Given the description of an element on the screen output the (x, y) to click on. 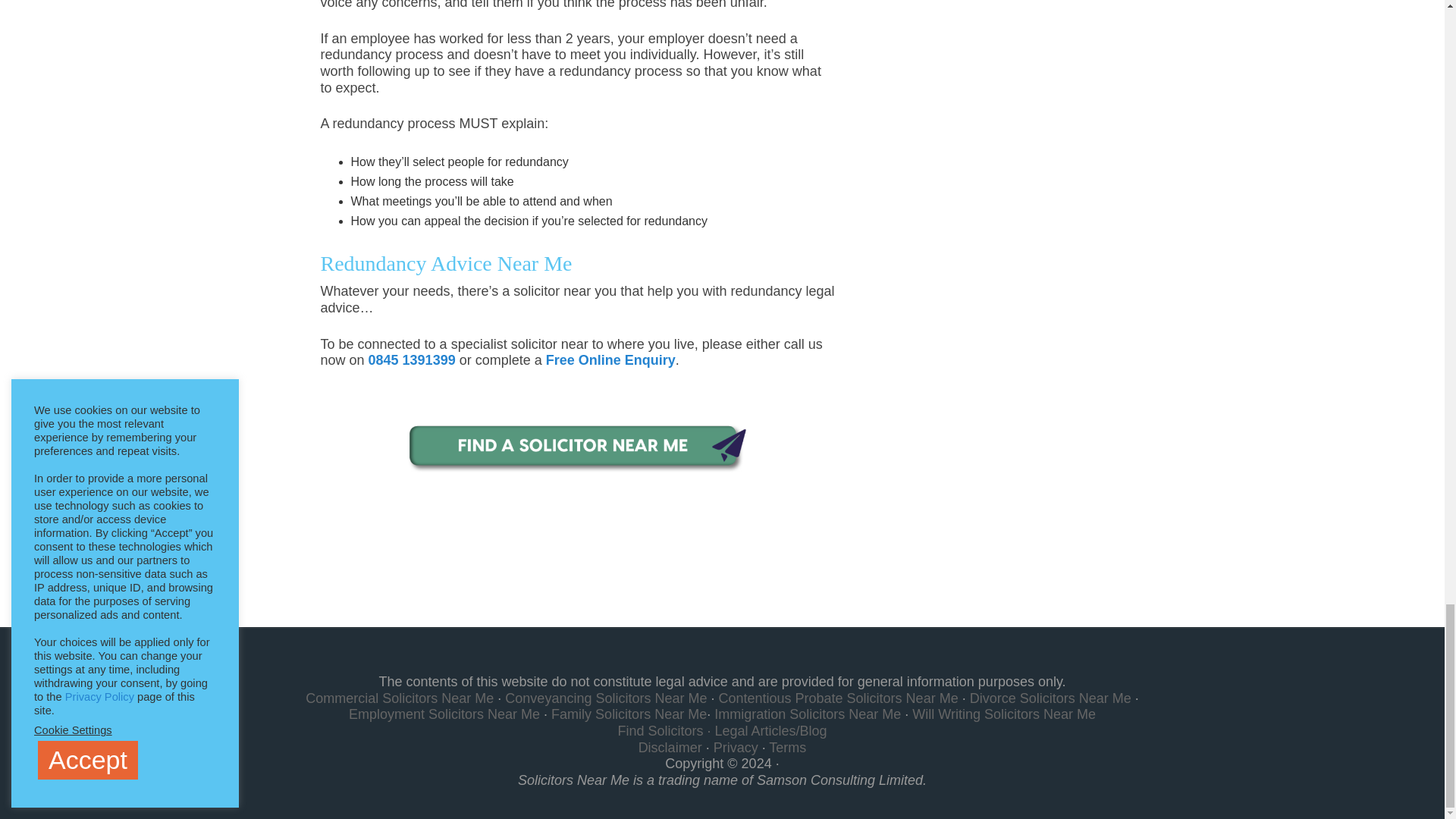
family law solicitors near me (578, 448)
